Given the description of an element on the screen output the (x, y) to click on. 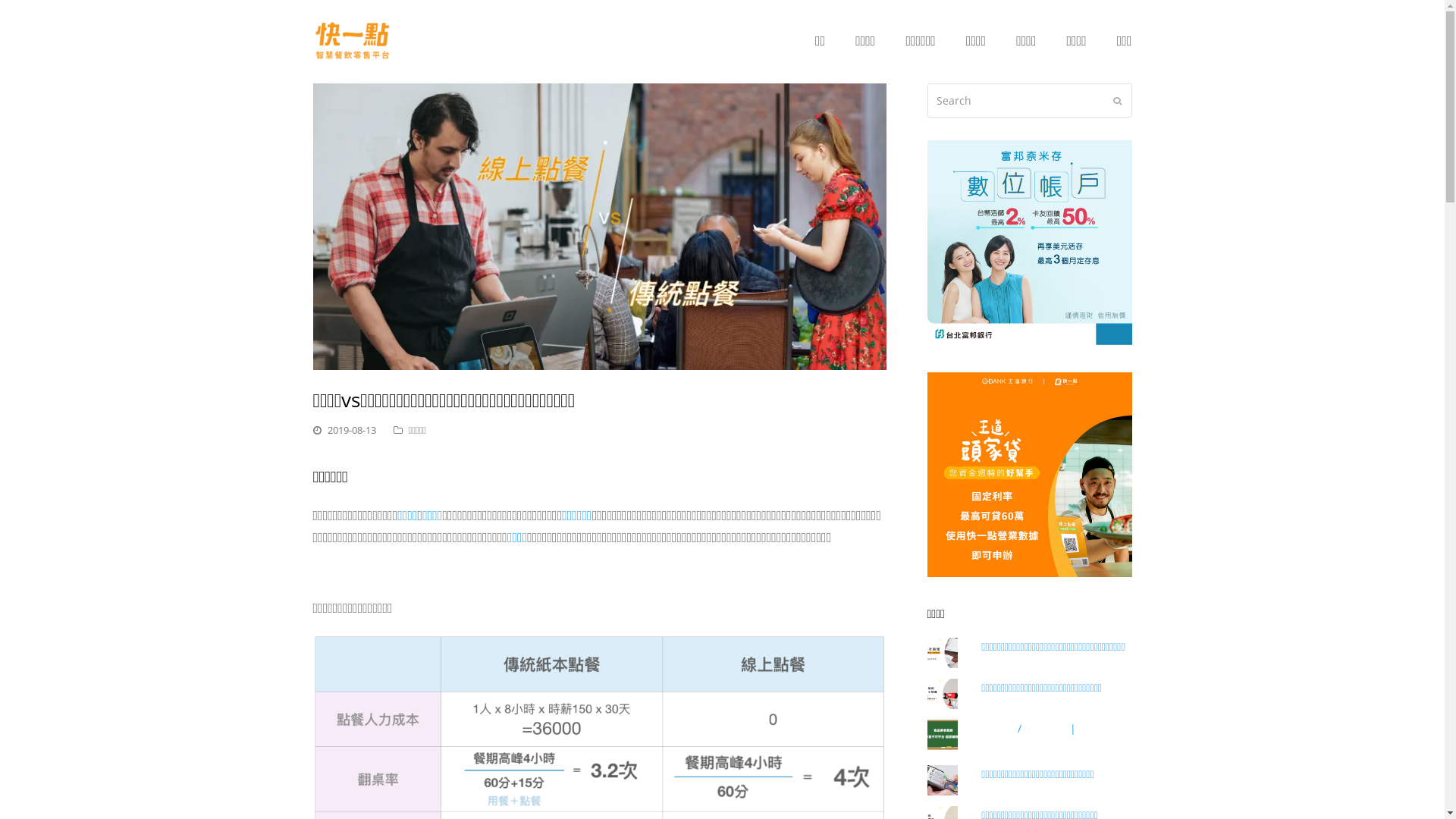
Submit Element type: text (1117, 99)
